Given the description of an element on the screen output the (x, y) to click on. 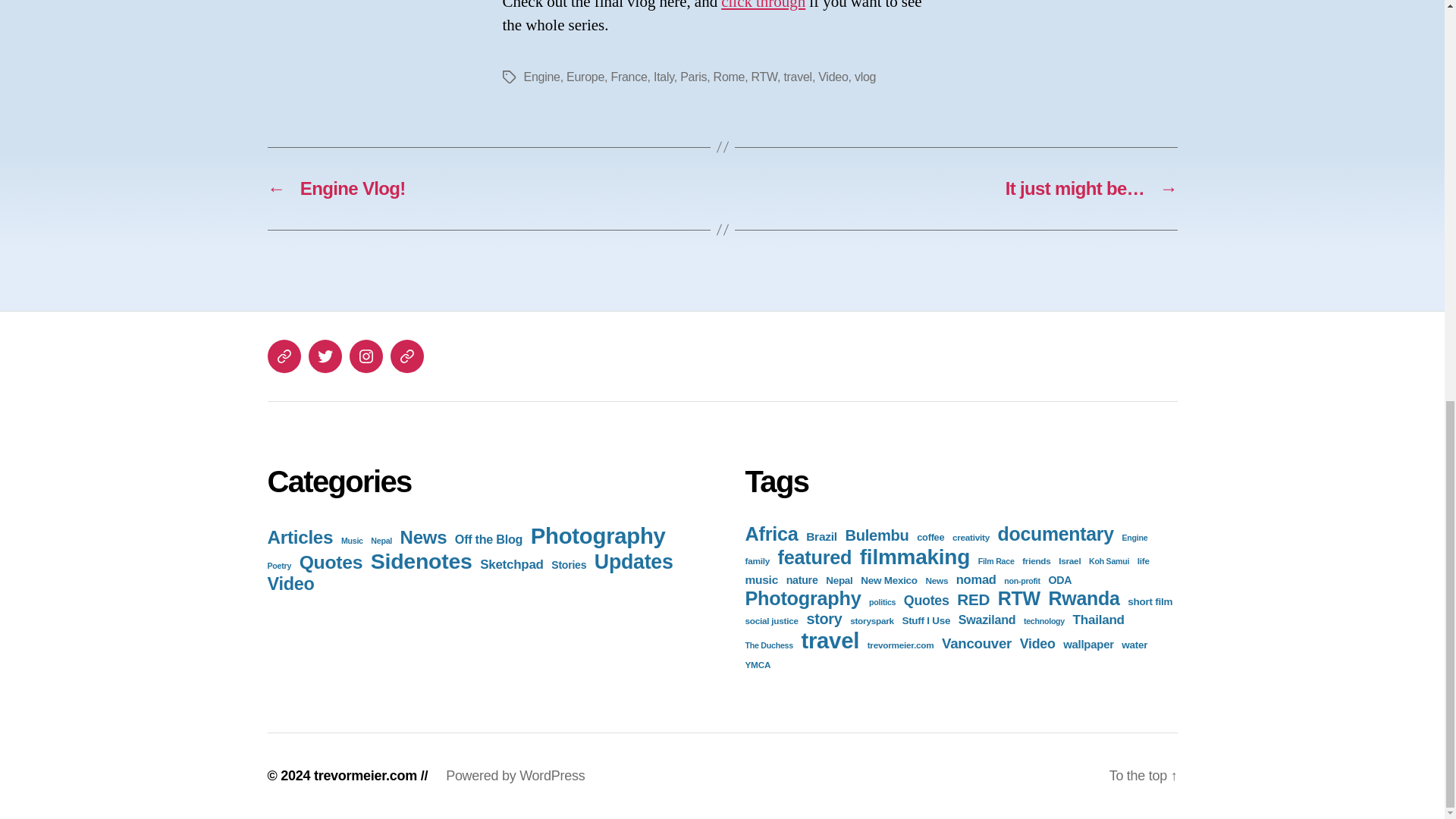
click through (762, 6)
Mastodon (282, 356)
RTW (764, 76)
Twitter (323, 356)
France (628, 76)
vlog (865, 76)
Paris (692, 76)
Instagram (365, 356)
Rome (729, 76)
Video (832, 76)
Europe (585, 76)
Music (351, 540)
travel (797, 76)
Pixelfed (406, 356)
Articles (299, 537)
